Given the description of an element on the screen output the (x, y) to click on. 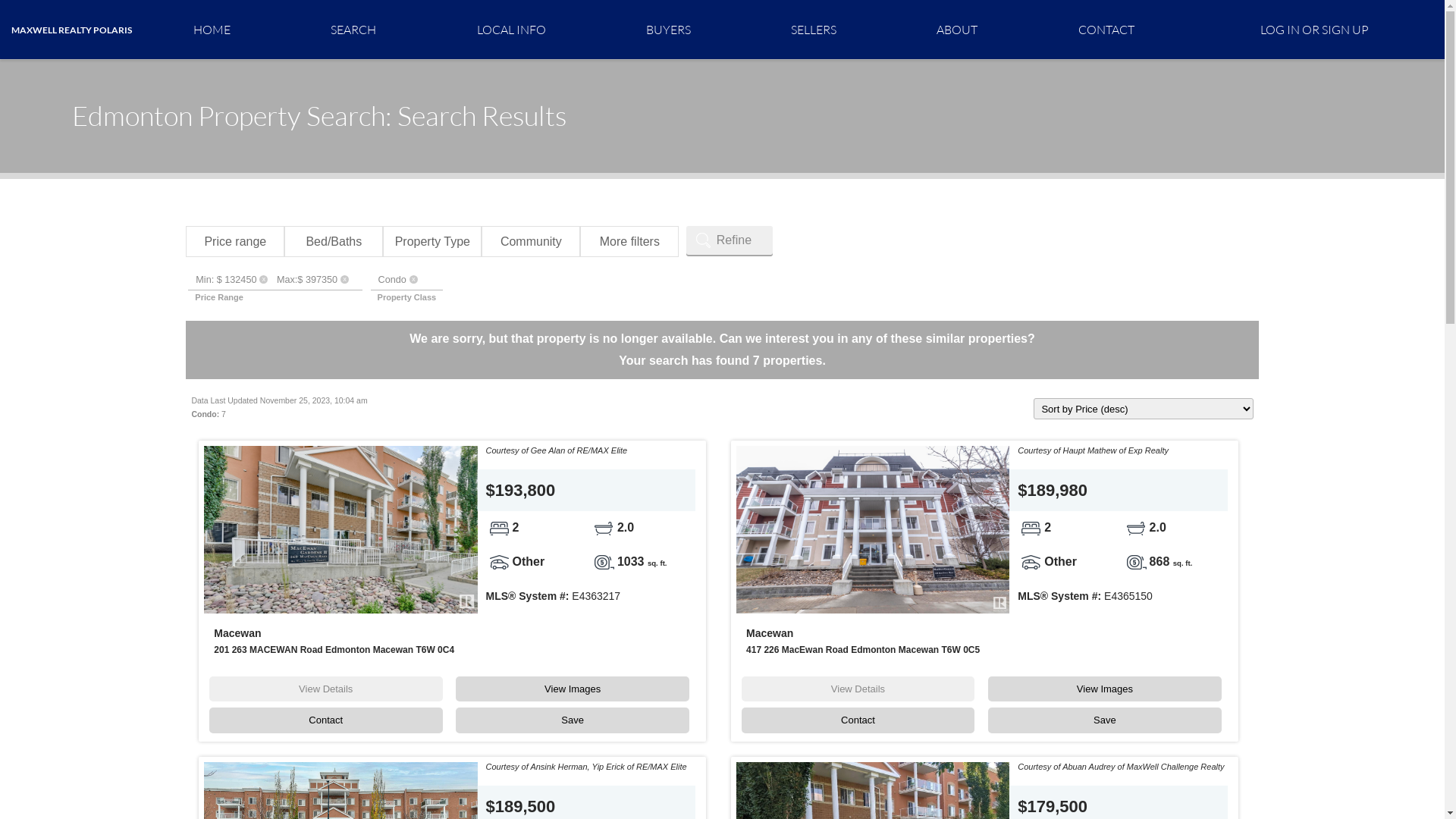
View Details Element type: text (325, 689)
X Element type: text (413, 279)
View Images Element type: text (572, 687)
BUYERS Element type: text (668, 29)
X Element type: text (344, 279)
LOCAL INFO Element type: text (510, 29)
Save Element type: text (572, 720)
201 263 MACEWAN Road Edmonton Macewan T6W 0C4 Element type: text (333, 649)
HOME Element type: text (211, 29)
X Element type: text (263, 279)
LOG IN OR SIGN UP Element type: text (1314, 29)
SEARCH Element type: text (353, 29)
View Images Element type: text (1104, 687)
View Details Element type: text (325, 687)
Contact Element type: text (325, 720)
View Images Element type: text (572, 689)
Contact Element type: text (858, 720)
Contact Element type: text (325, 718)
View Details Element type: text (857, 687)
ABOUT Element type: text (956, 29)
Save Element type: text (572, 718)
View Details Element type: text (858, 689)
Save Element type: text (1104, 720)
Save Element type: text (1104, 718)
SELLERS Element type: text (813, 29)
Refine Element type: text (729, 239)
CONTACT Element type: text (1106, 29)
Contact Element type: text (857, 718)
MAXWELL REALTY POLARIS Element type: text (71, 29)
View Images Element type: text (1104, 689)
417 226 MacEwan Road Edmonton Macewan T6W 0C5 Element type: text (862, 649)
